Given the description of an element on the screen output the (x, y) to click on. 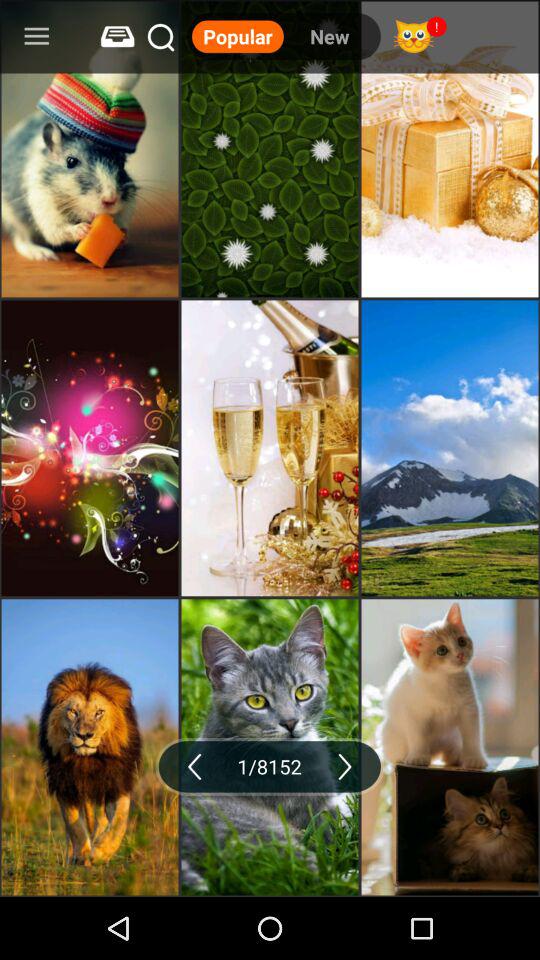
launch the new item (329, 36)
